Given the description of an element on the screen output the (x, y) to click on. 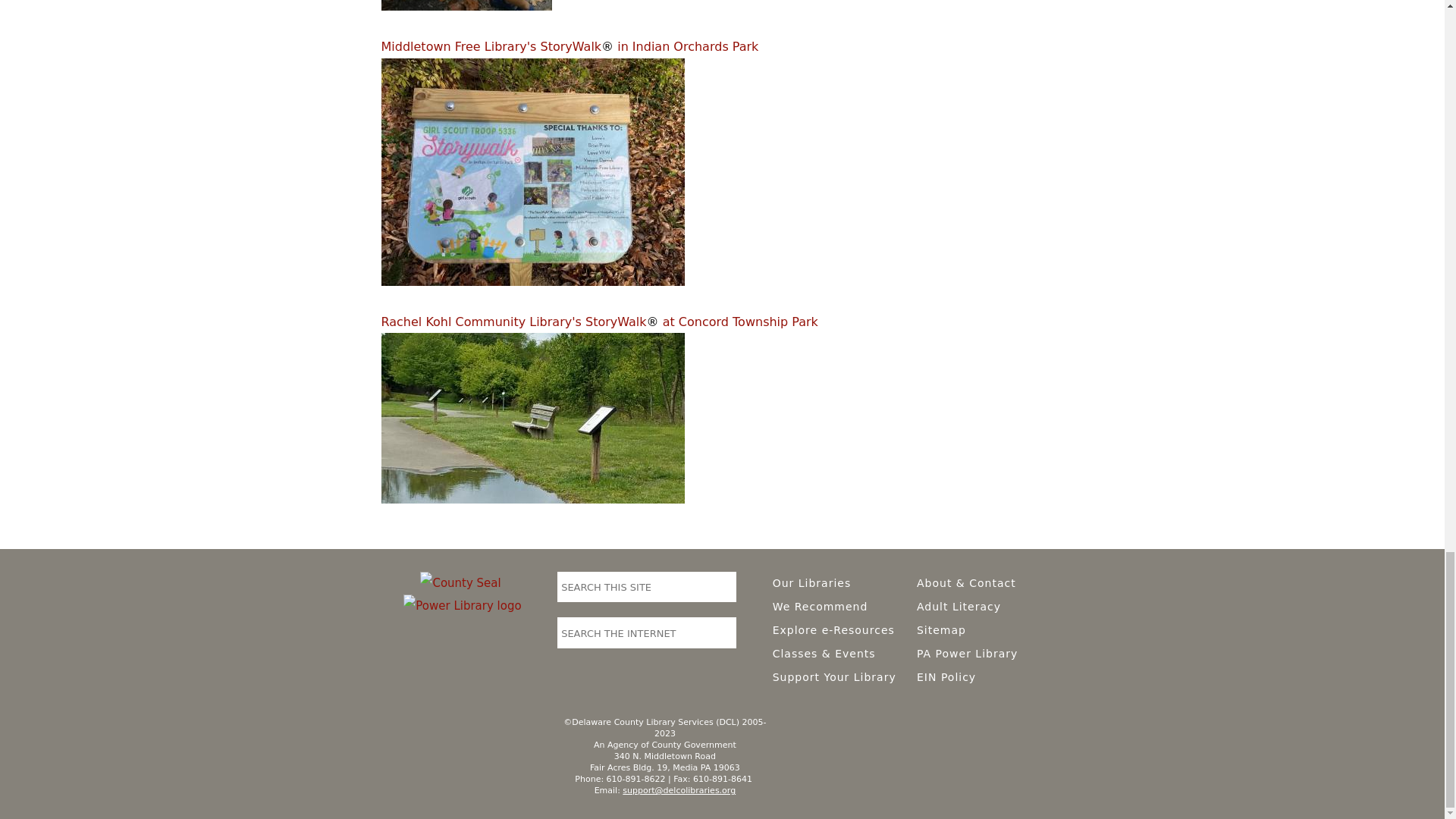
Search (722, 584)
Enter the terms you wish to search for. (633, 587)
Search! (722, 632)
